Given the description of an element on the screen output the (x, y) to click on. 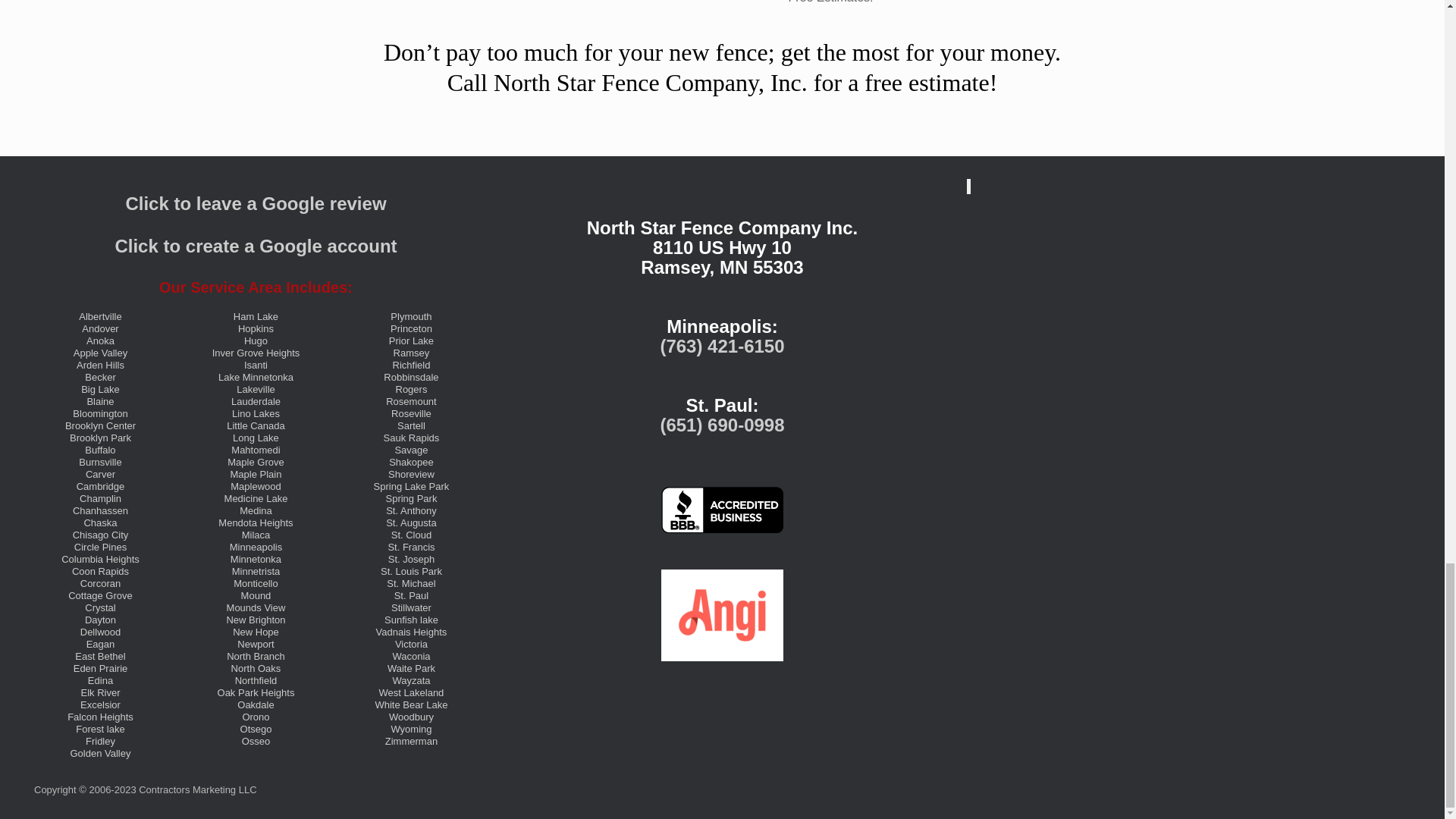
Champlin (100, 498)
Brooklyn Park (100, 437)
Click to create a Google account (255, 245)
Anoka (100, 340)
Becker (99, 377)
Albertville (99, 316)
Apple Valley (101, 352)
Big Lake (100, 389)
Chanhassen (100, 510)
Burnsville (99, 461)
Carver (100, 473)
Chaska (99, 522)
Columbia Heights (100, 559)
Blaine (99, 401)
Arden Hills (100, 365)
